Given the description of an element on the screen output the (x, y) to click on. 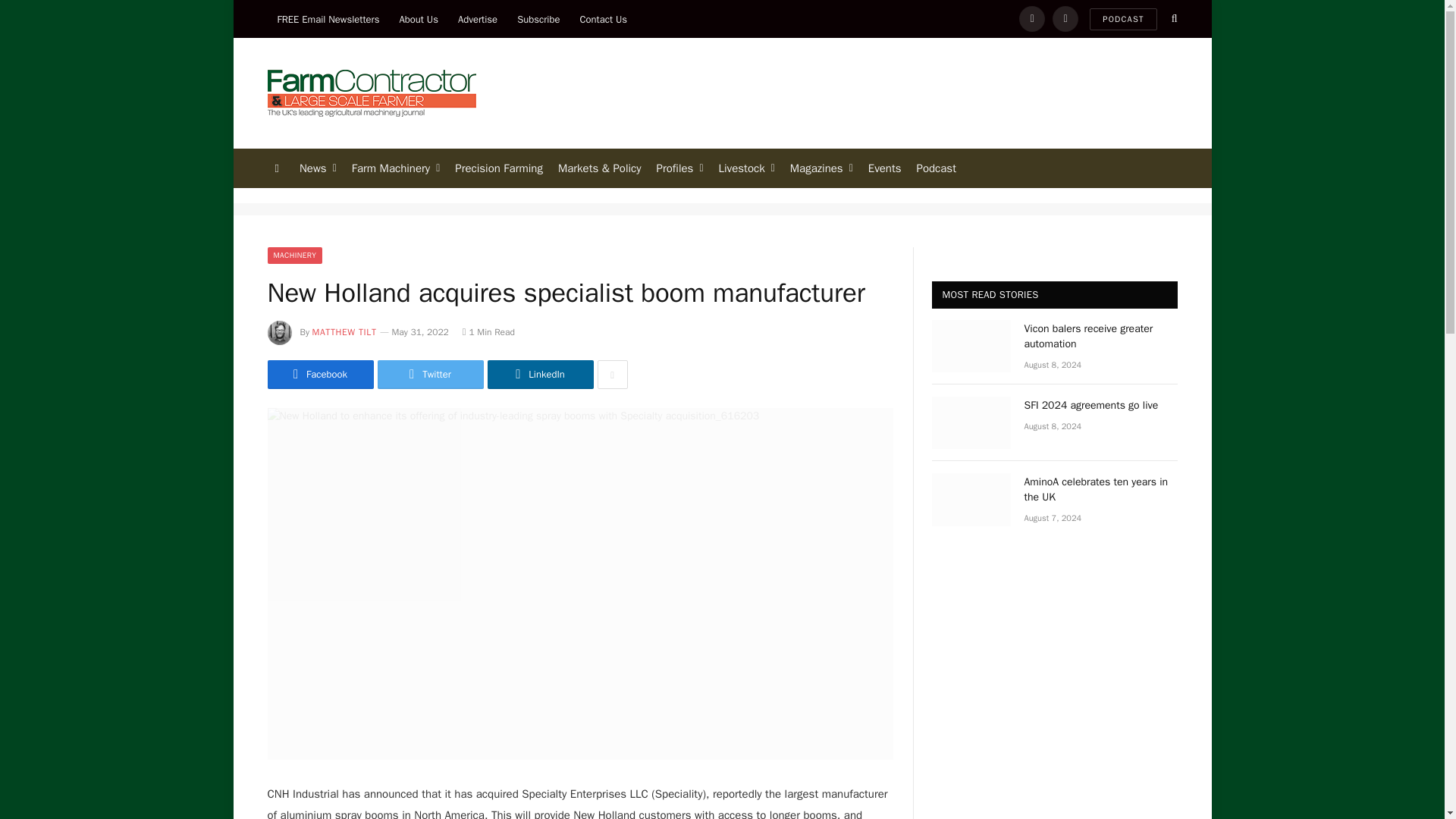
Show More Social Sharing (611, 374)
Share on LinkedIn (539, 374)
Share on Twitter (319, 374)
Share on Twitter (430, 374)
Posts by Matthew Tilt (345, 331)
